Given the description of an element on the screen output the (x, y) to click on. 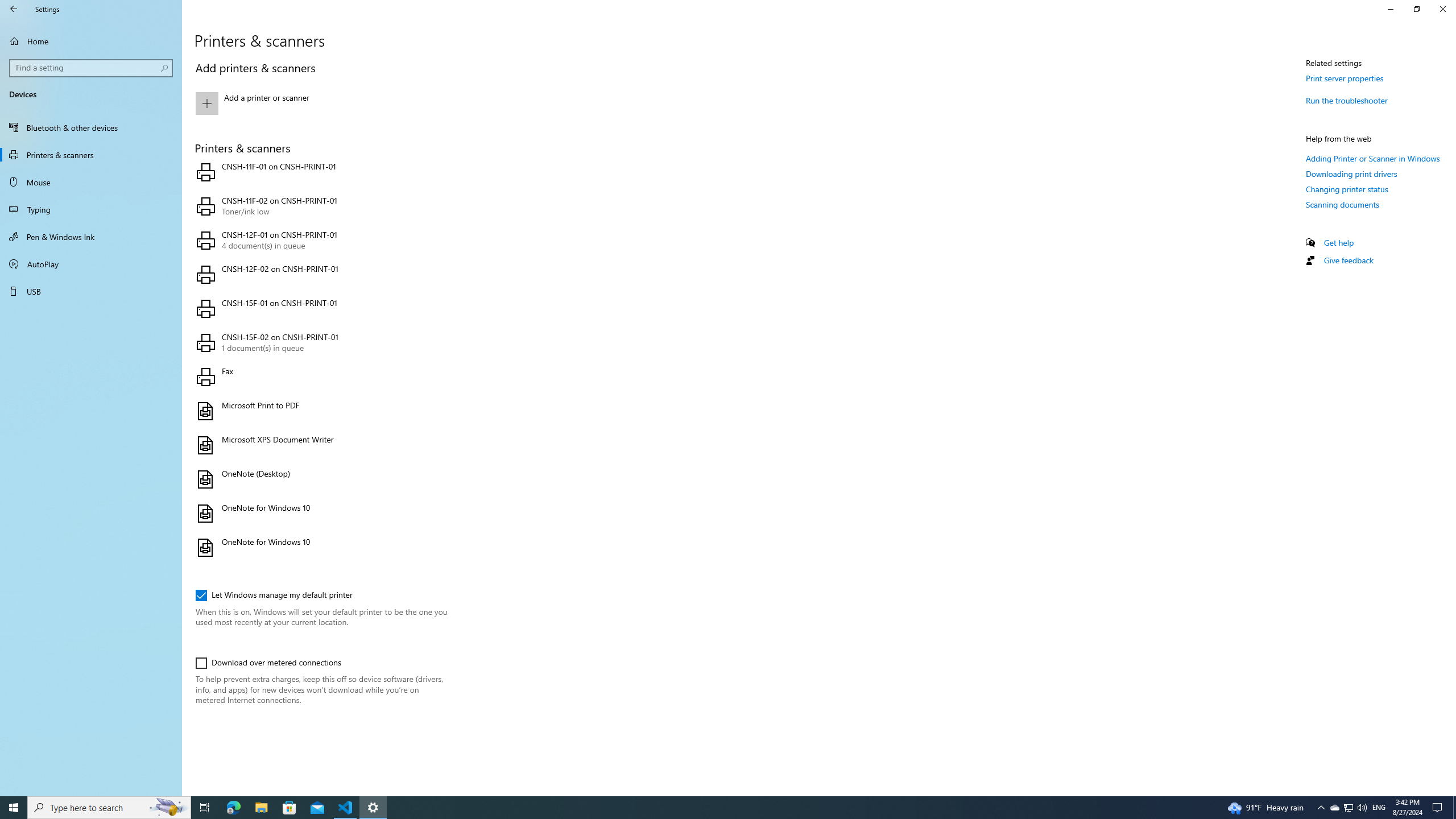
AutoPlay (91, 263)
Microsoft Print to PDF (319, 410)
Fax (319, 376)
Adding Printer or Scanner in Windows (1372, 158)
OneNote (Desktop) (319, 479)
